Given the description of an element on the screen output the (x, y) to click on. 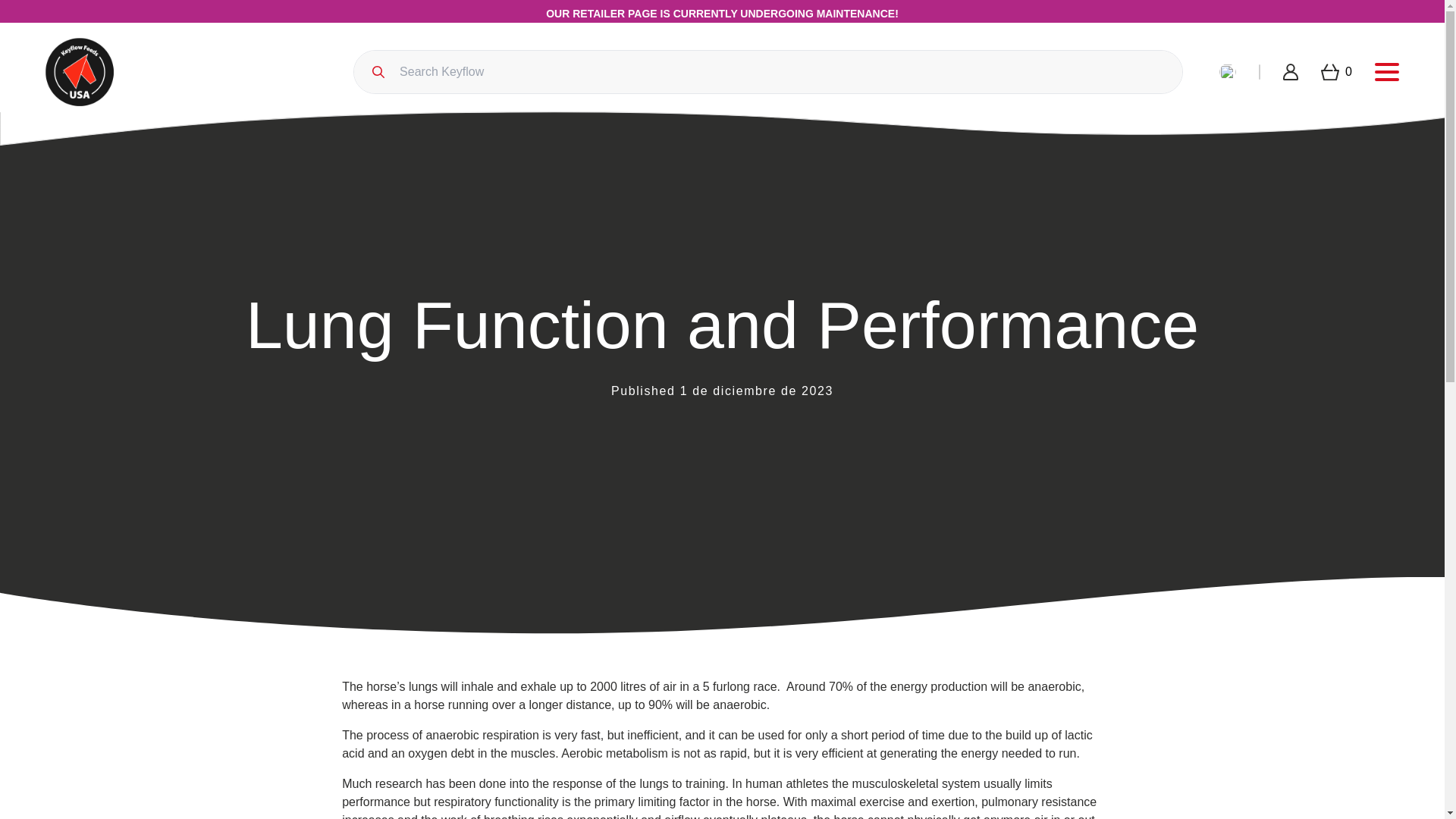
OUR RETAILER PAGE IS CURRENTLY UNDERGOING MAINTENANCE! (722, 13)
